Given the description of an element on the screen output the (x, y) to click on. 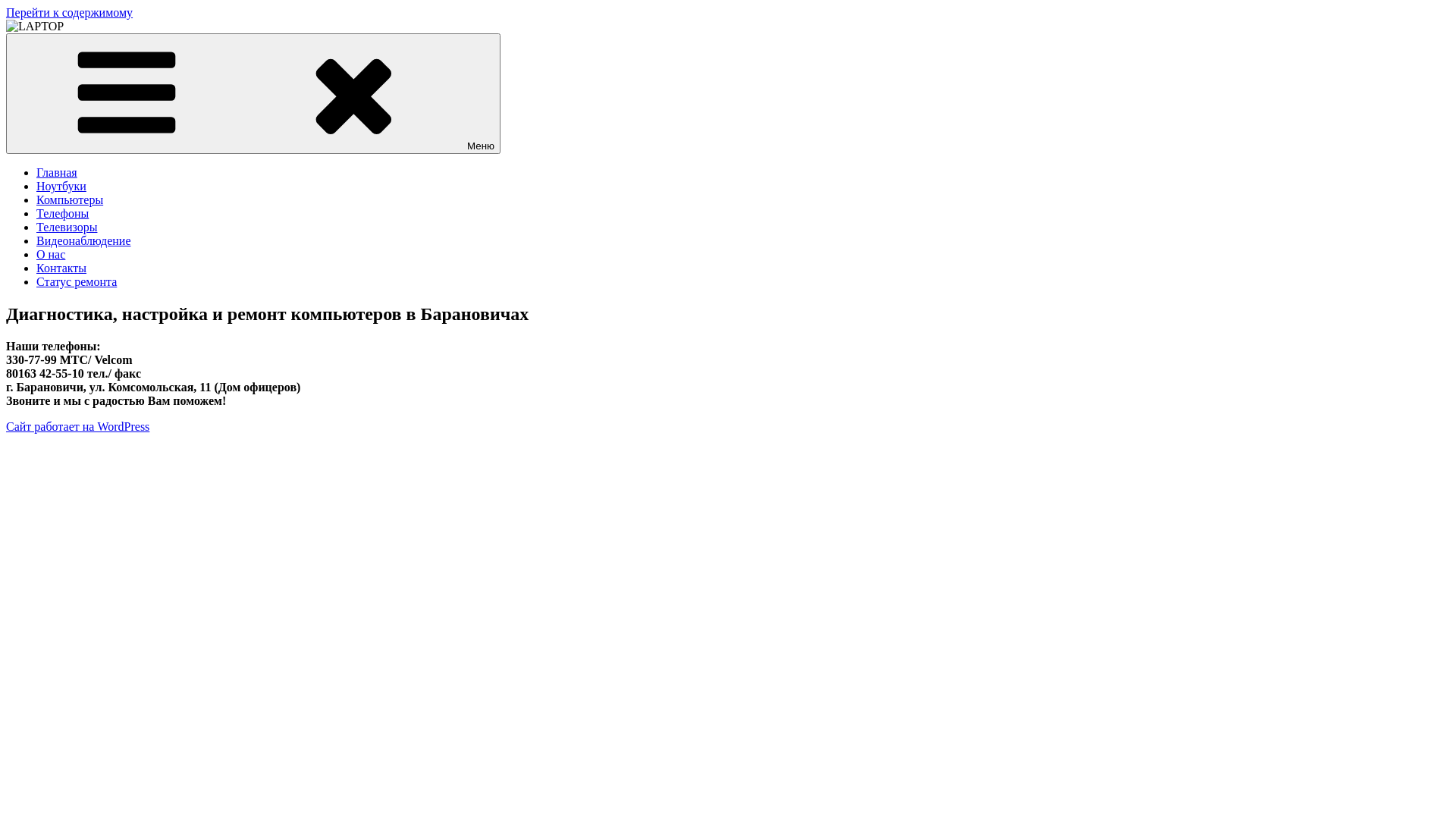
LAPTOP Element type: text (28, 51)
